Given the description of an element on the screen output the (x, y) to click on. 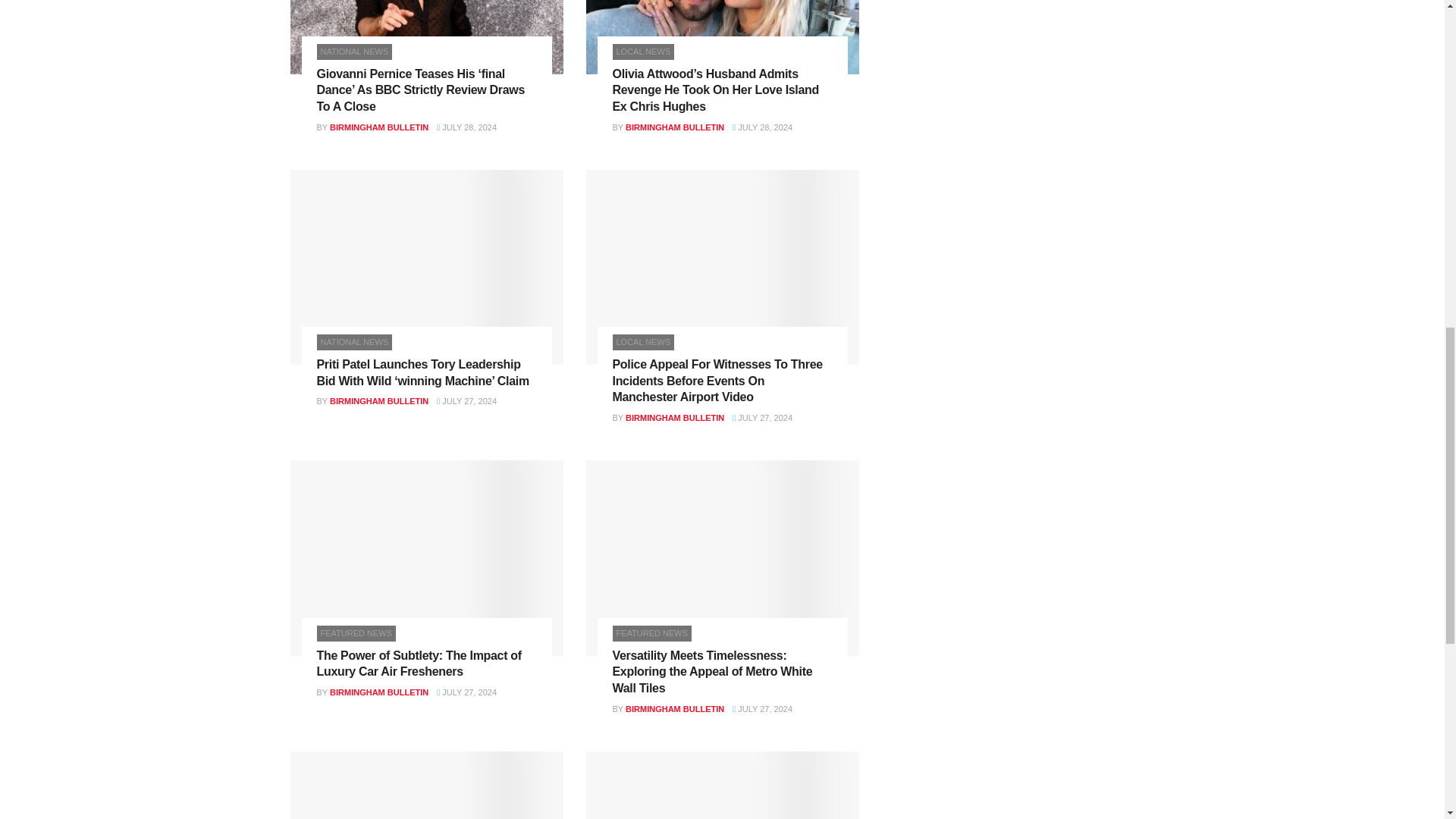
NATIONAL NEWS (355, 51)
